Given the description of an element on the screen output the (x, y) to click on. 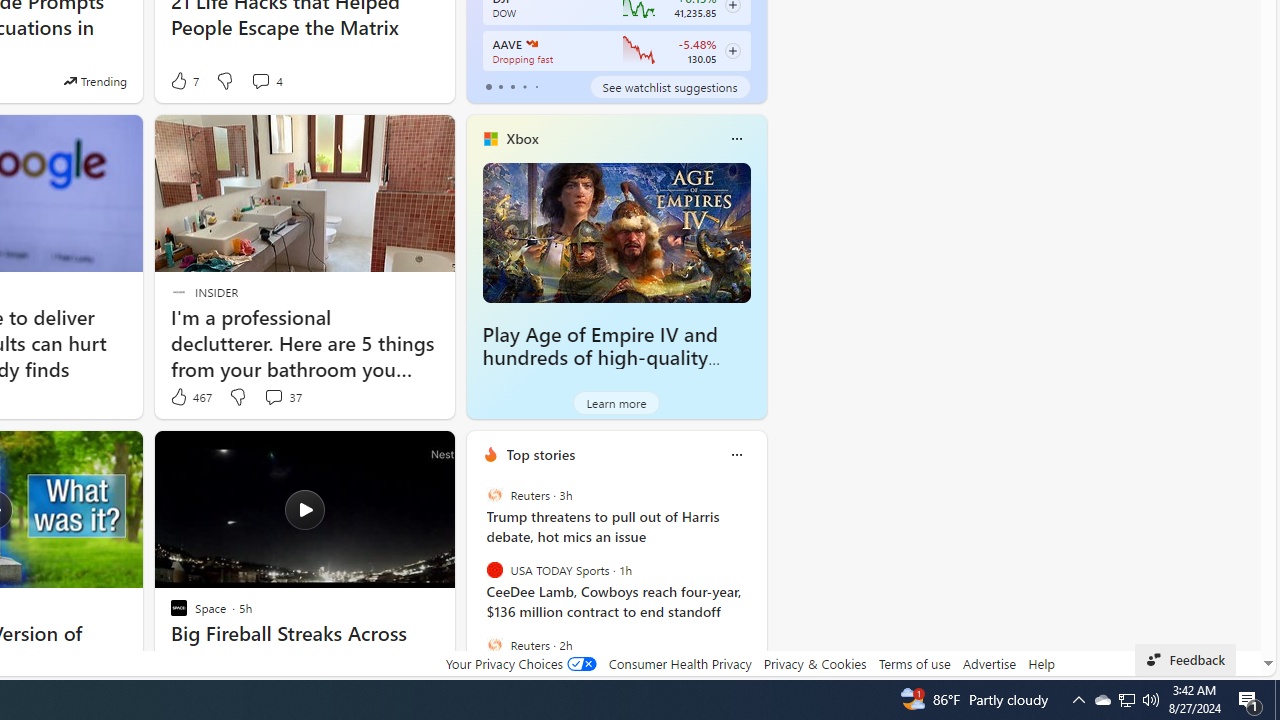
This story is trending (95, 80)
Xbox (521, 139)
previous (476, 583)
Learn more (616, 402)
Reuters (494, 644)
View comments 4 Comment (265, 80)
Help (1040, 663)
USA TODAY Sports (494, 570)
tab-4 (535, 86)
467 Like (190, 397)
View comments 37 Comment (273, 396)
